Given the description of an element on the screen output the (x, y) to click on. 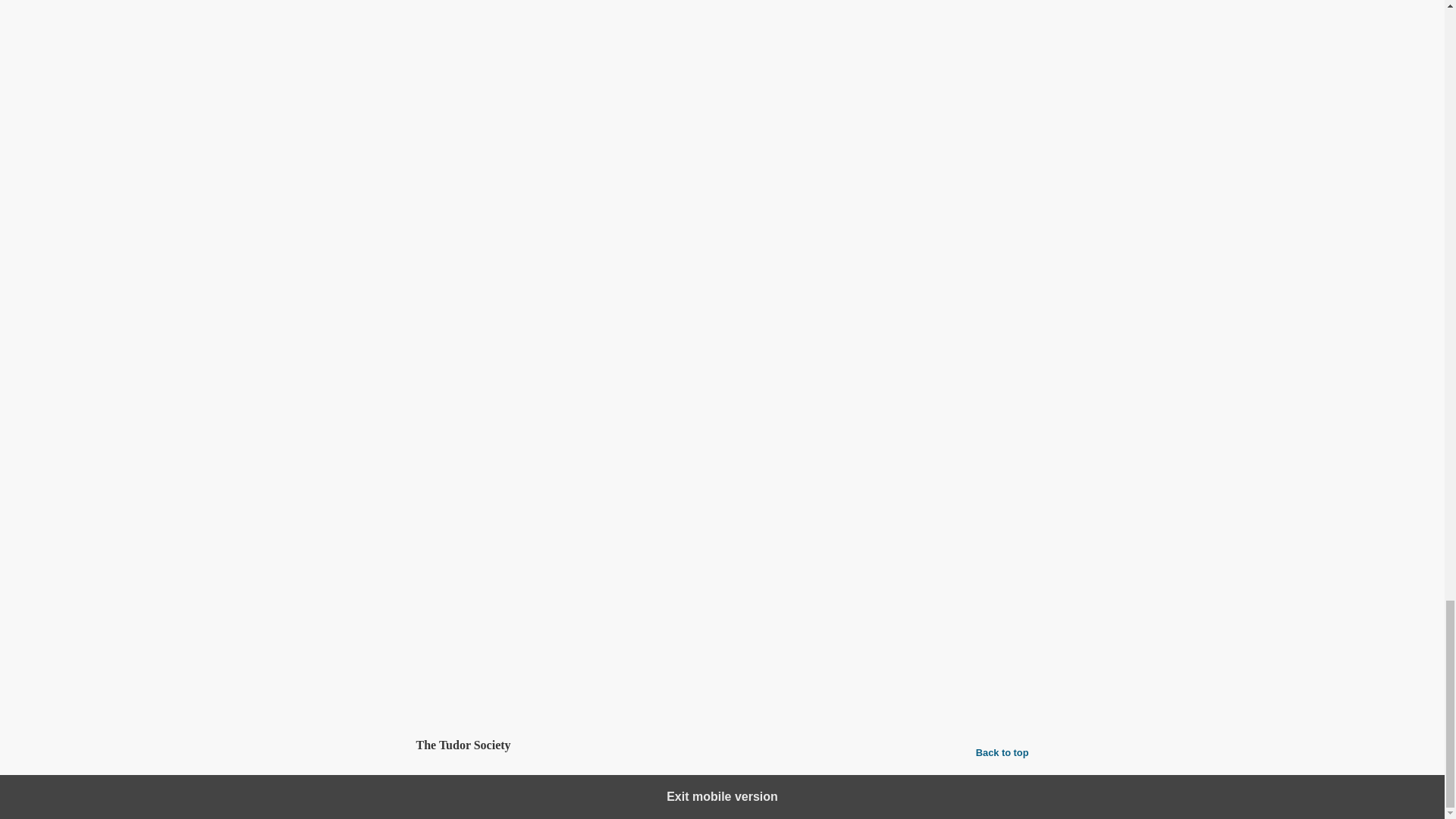
News (486, 638)
Leave a Comment (721, 686)
Back to top (1002, 752)
